Given the description of an element on the screen output the (x, y) to click on. 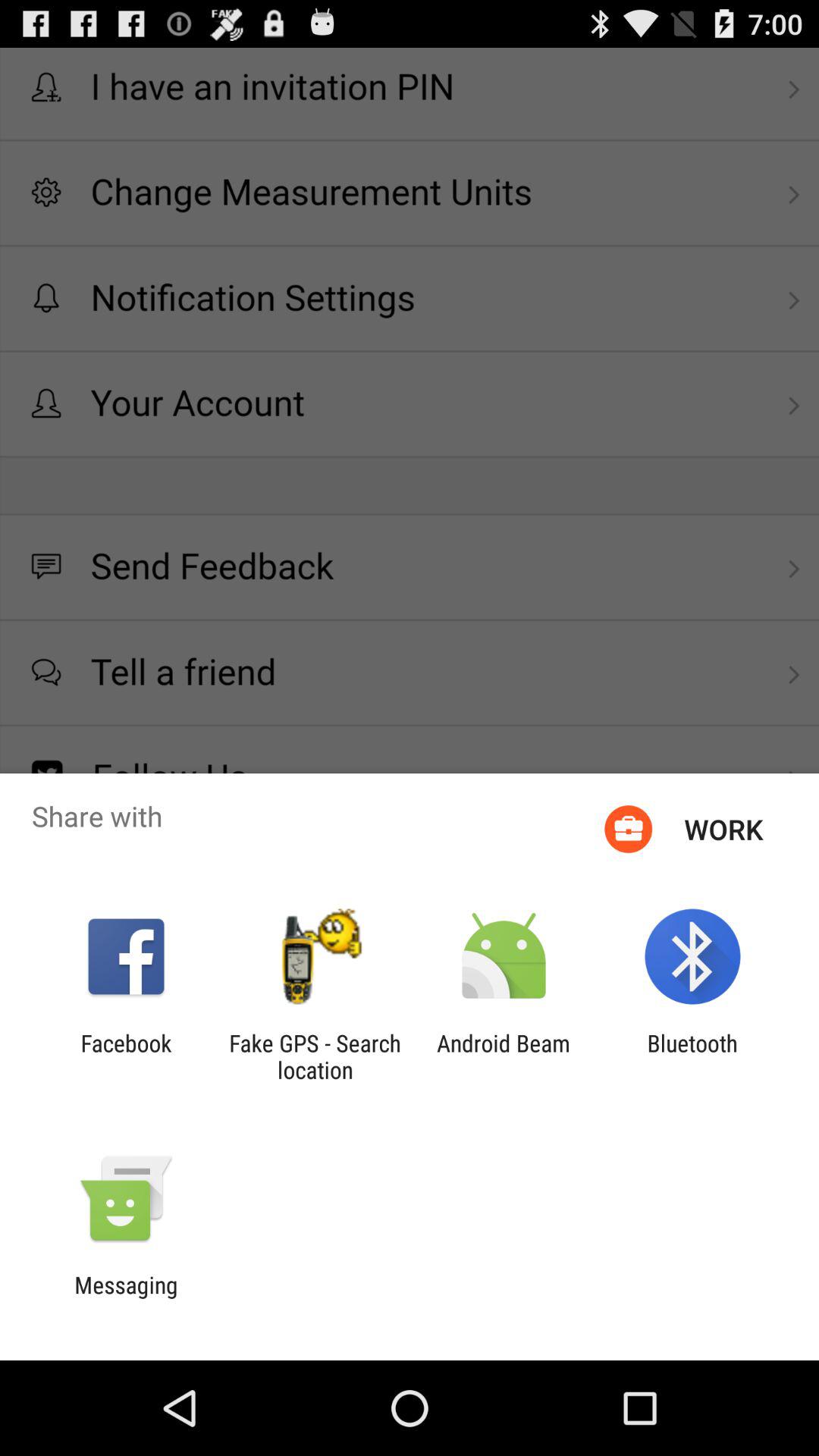
swipe to the bluetooth icon (692, 1056)
